Given the description of an element on the screen output the (x, y) to click on. 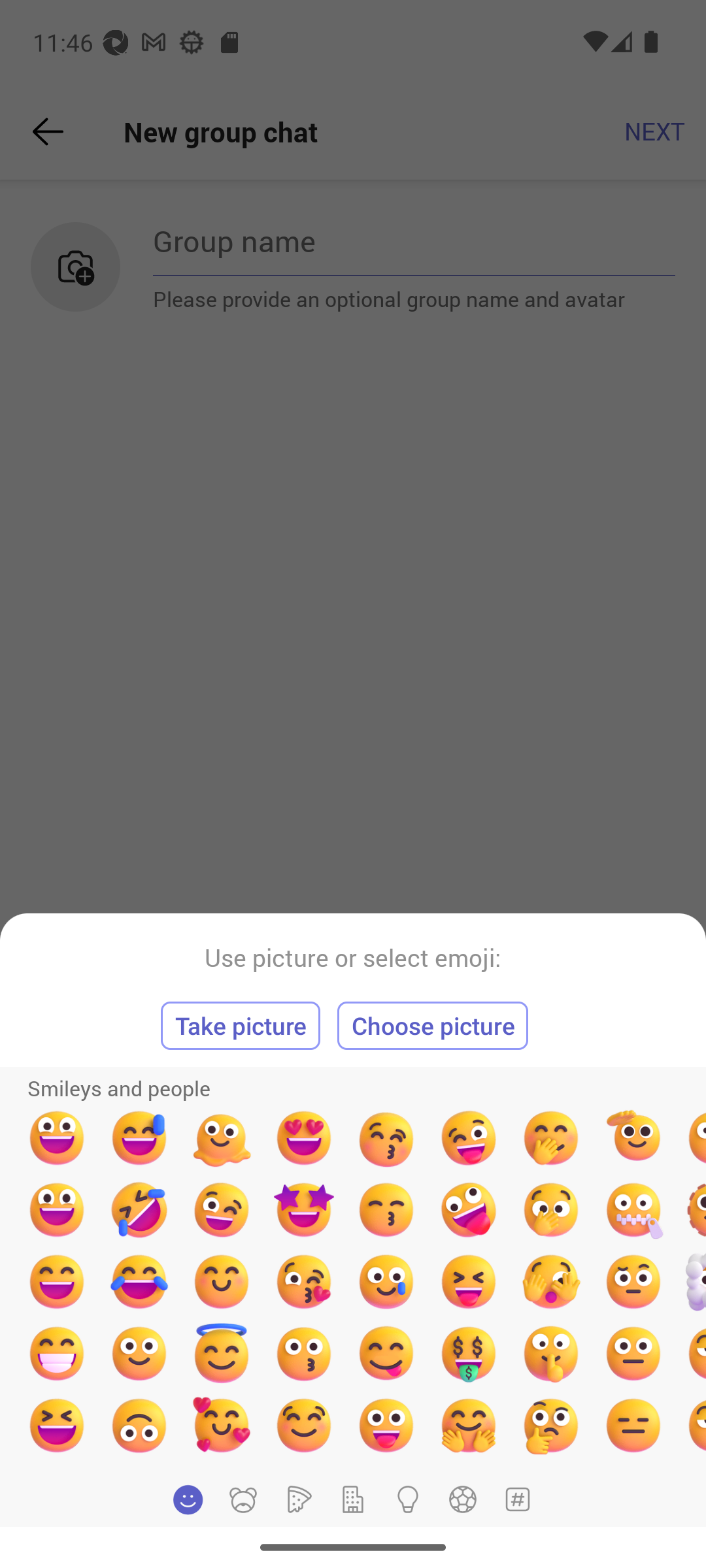
Take picture (240, 1025)
Choose picture (432, 1025)
Grinning face with big eyes emoji (56, 1138)
Sweat grinning emoji (139, 1138)
Melting face emoji (221, 1138)
Heart eyes emoji (303, 1138)
Kissing face with closed eyes emoji (386, 1138)
Winking tongue out emoji (468, 1138)
Giggle emoji (550, 1138)
Saluting face emoji (633, 1138)
Happy face emoji (56, 1210)
Rolling on the floor laughing emoji (139, 1210)
Wink emoji (221, 1210)
Star eyes emoji (303, 1210)
Kissing face with smiling eyes emoji (386, 1210)
Zany face emoji (468, 1210)
Hand over mouth emoji (550, 1210)
Zipper mouth face emoji (633, 1210)
Grinning face with smiling eyes emoji (56, 1281)
Crying with laughter emoji (139, 1281)
Smile eyes emoji (221, 1281)
Face blowing a kiss emoji (303, 1281)
Smiling face with tear emoji (386, 1281)
Squinting face with tongue emoji (468, 1281)
Peeking eye emoji (550, 1281)
Wondering emoji (633, 1281)
Beaming face with smiling eyes emoji (56, 1353)
Smile emoji (139, 1353)
Angel emoji (221, 1353)
Kiss emoji (303, 1353)
Cheeky emoji (386, 1353)
Money mouth face emoji (468, 1353)
My lips are sealed emoji (550, 1353)
Speechless emoji (633, 1353)
Laugh emoji (56, 1425)
Upside down face emoji (139, 1425)
In love emoji (221, 1425)
Mmmmm… emoji (303, 1425)
Face with tongue emoji (386, 1425)
Hugging face emoji (468, 1425)
Thinking emoji (550, 1425)
Expressionless emoji (633, 1425)
Smileys and people, selected (188, 1499)
Animals, not selected (243, 1499)
Food, not selected (297, 1499)
Travel and places, not selected (352, 1499)
Objects, not selected (407, 1499)
Activities, not selected (462, 1499)
Symbols, not selected (517, 1499)
